Given the description of an element on the screen output the (x, y) to click on. 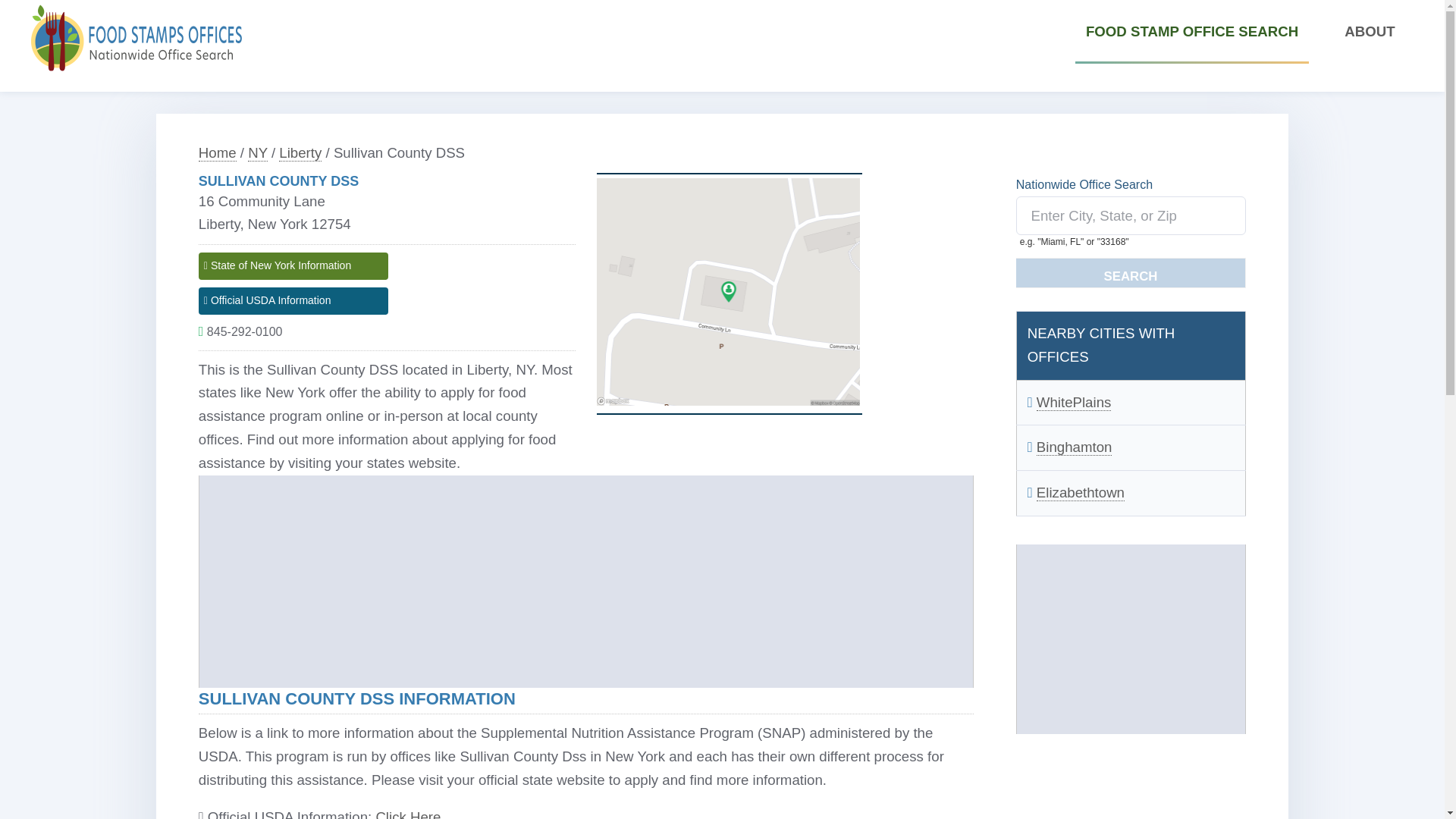
Food Stamp Offices (216, 152)
WhitePlains Food Stamps (1074, 402)
Elizabethtown Food Stamps (1080, 492)
NY Food Stamps (257, 152)
FOOD STAMP OFFICE SEARCH (1191, 31)
Liberty Food Stamps (300, 152)
food stamps (136, 38)
Binghamton Food Stamps (1074, 446)
Advertisement (1130, 638)
